Given the description of an element on the screen output the (x, y) to click on. 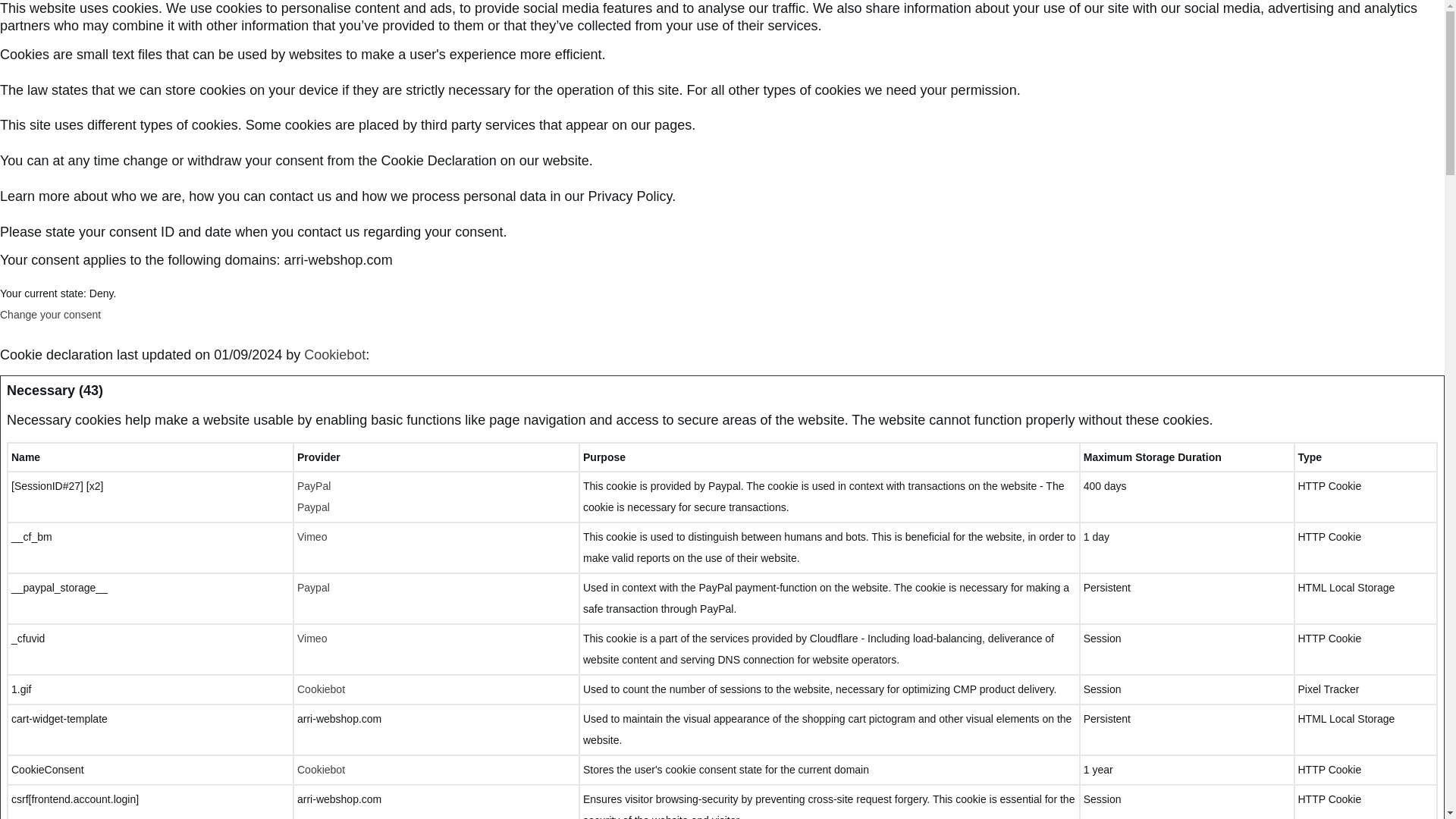
PayPal (313, 485)
Cookiebot (334, 354)
Cookiebot (321, 689)
Cookiebot (334, 354)
Paypal's privacy policy (313, 507)
PayPal's privacy policy (313, 485)
Vimeo's privacy policy (311, 638)
Cookiebot's privacy policy (321, 689)
Paypal (313, 507)
Change your consent (50, 314)
